Given the description of an element on the screen output the (x, y) to click on. 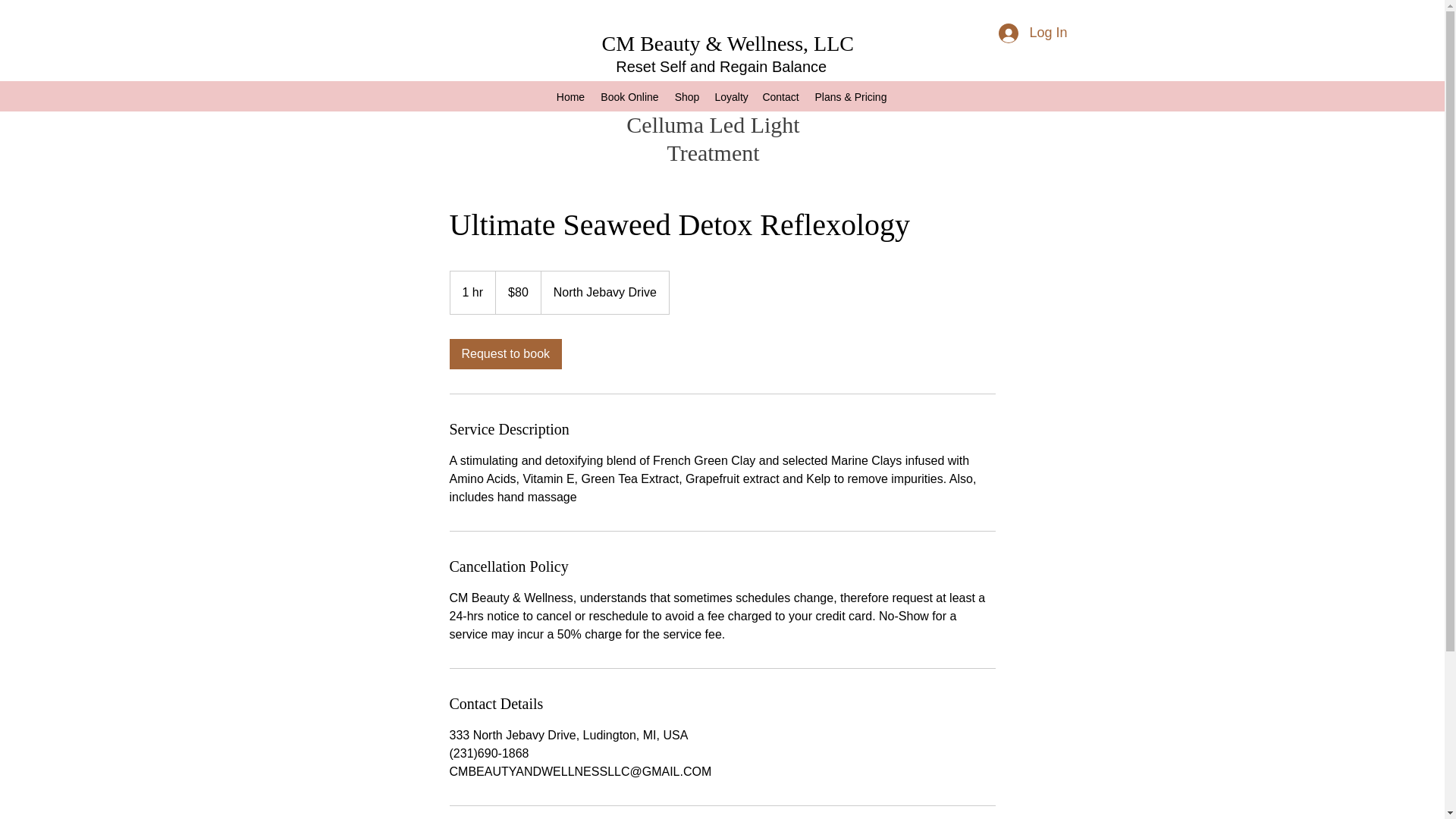
Loyalty (730, 96)
Shop (686, 96)
Book Online (629, 96)
Log In (1032, 32)
Request to book (505, 353)
Home (570, 96)
Contact (780, 96)
